Given the description of an element on the screen output the (x, y) to click on. 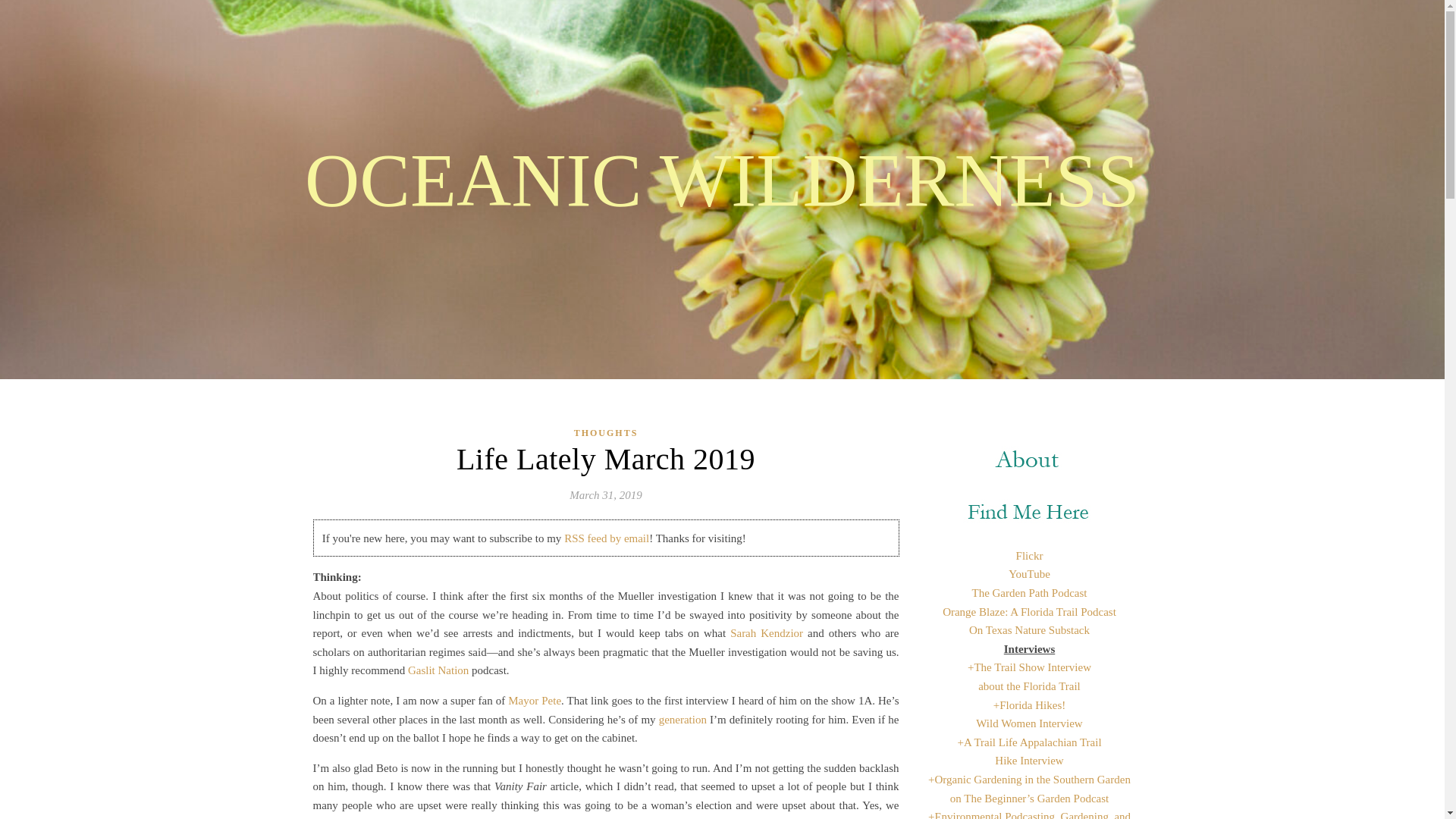
generation (682, 719)
YouTube (1029, 573)
RSS feed by email (606, 538)
Flickr (1029, 555)
Gaslit Nation (437, 670)
The Garden Path Podcast (1028, 592)
Sarah Kendzior (766, 633)
Mayor Pete (534, 700)
On Texas Nature Substack (1029, 630)
Orange Blaze: A Florida Trail Podcast (1029, 612)
THOUGHTS (606, 433)
